Given the description of an element on the screen output the (x, y) to click on. 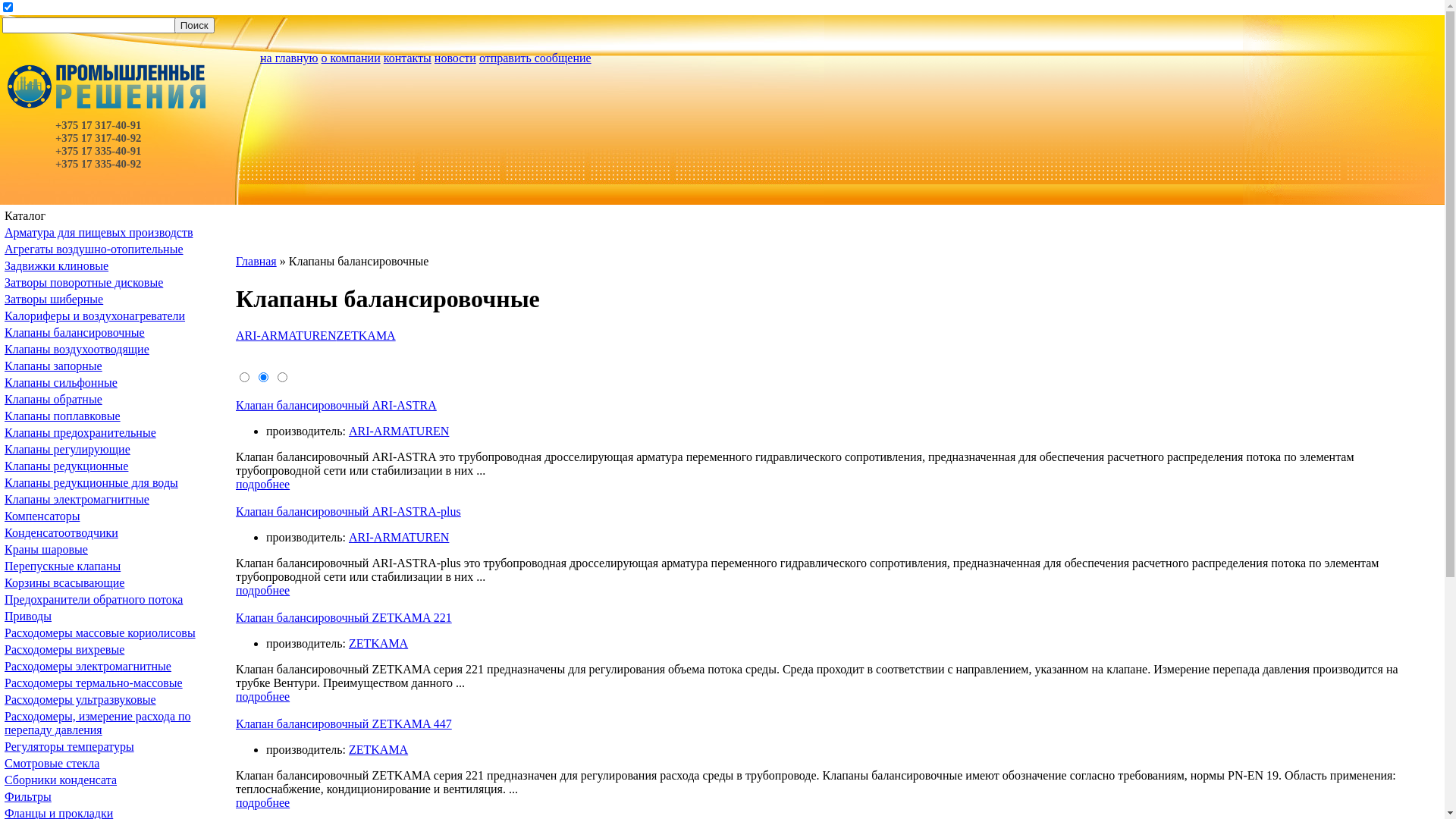
ZETKAMA Element type: text (365, 335)
ZETKAMA Element type: text (377, 749)
ARI-ARMATUREN Element type: text (285, 335)
ZETKAMA Element type: text (377, 643)
ARI-ARMATUREN Element type: text (398, 430)
ARI-ARMATUREN Element type: text (398, 536)
